Given the description of an element on the screen output the (x, y) to click on. 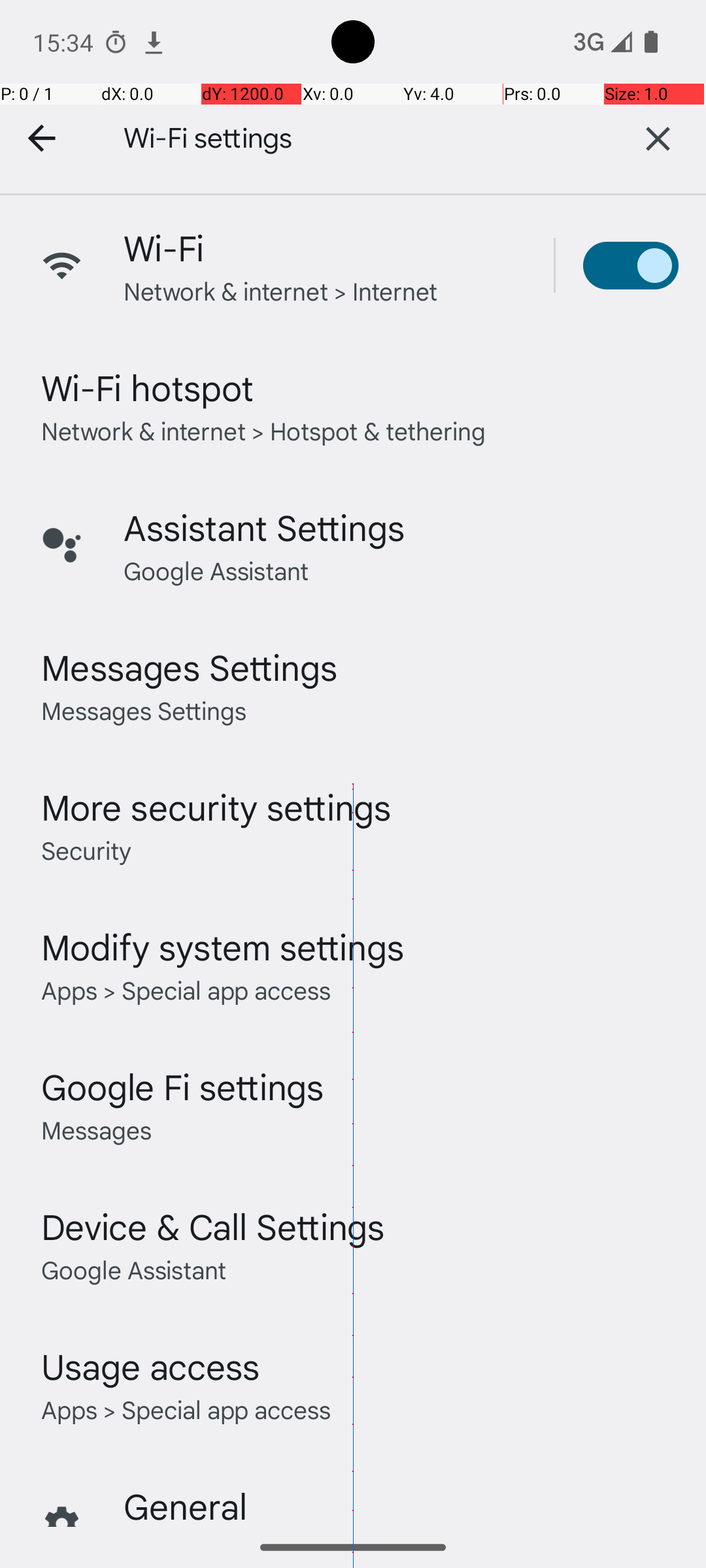
Wi-Fi settings Element type: android.widget.EditText (345, 138)
Network & internet > Internet Element type: android.widget.TextView (280, 289)
Wi-Fi hotspot Element type: android.widget.TextView (147, 386)
Network & internet > Hotspot & tethering Element type: android.widget.TextView (263, 429)
Assistant Settings Element type: android.widget.TextView (263, 526)
Google Assistant Element type: android.widget.TextView (215, 569)
Messages Settings Element type: android.widget.TextView (189, 666)
Modify system settings Element type: android.widget.TextView (222, 945)
Apps > Special app access Element type: android.widget.TextView (185, 988)
Google Fi settings Element type: android.widget.TextView (182, 1085)
Device & Call Settings Element type: android.widget.TextView (213, 1225)
Usage access Element type: android.widget.TextView (150, 1365)
